Given the description of an element on the screen output the (x, y) to click on. 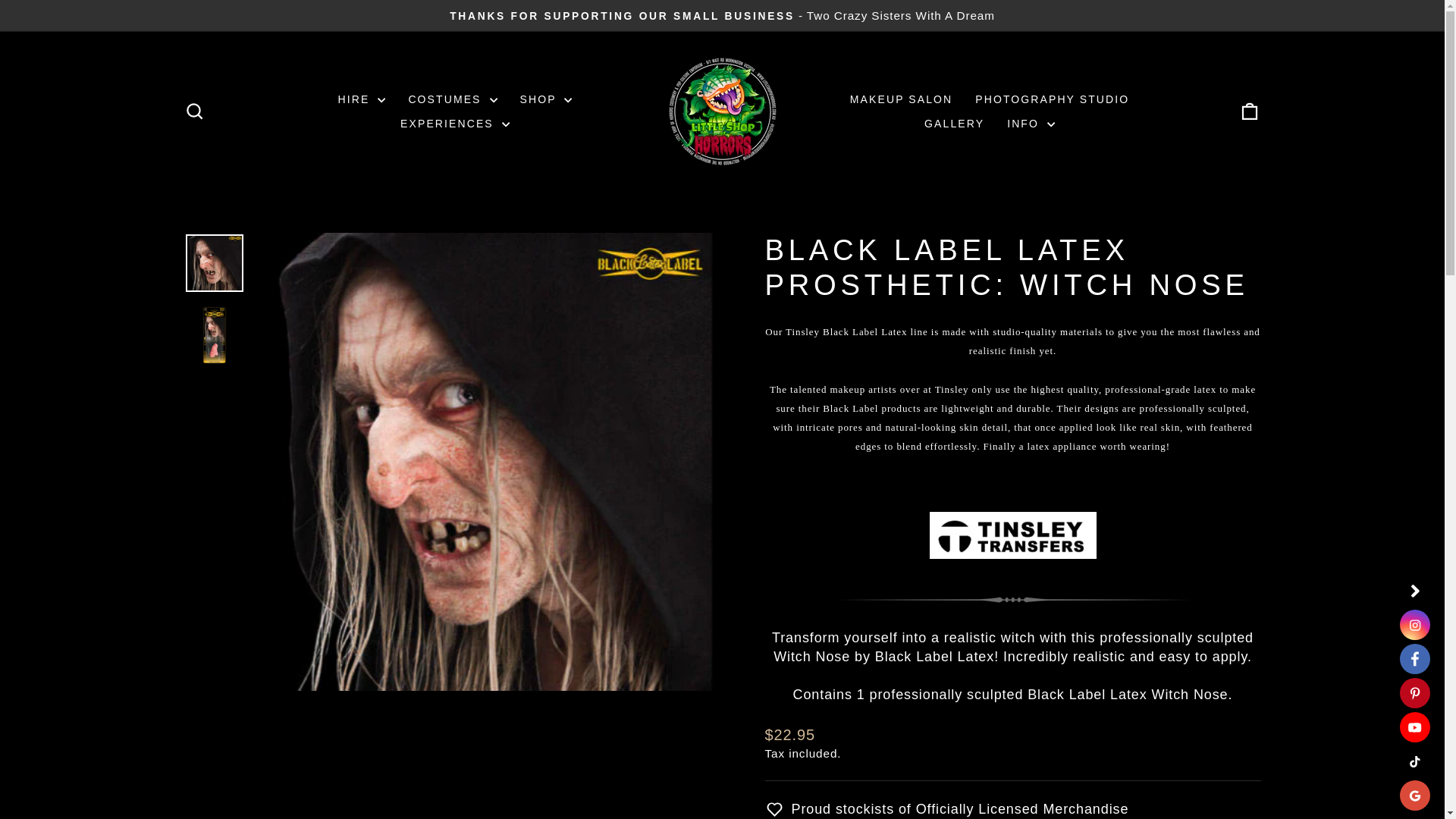
ICON-BAG-MINIMAL (1249, 111)
Tinsley Transfers (1013, 534)
ICON-SEARCH (194, 111)
